Given the description of an element on the screen output the (x, y) to click on. 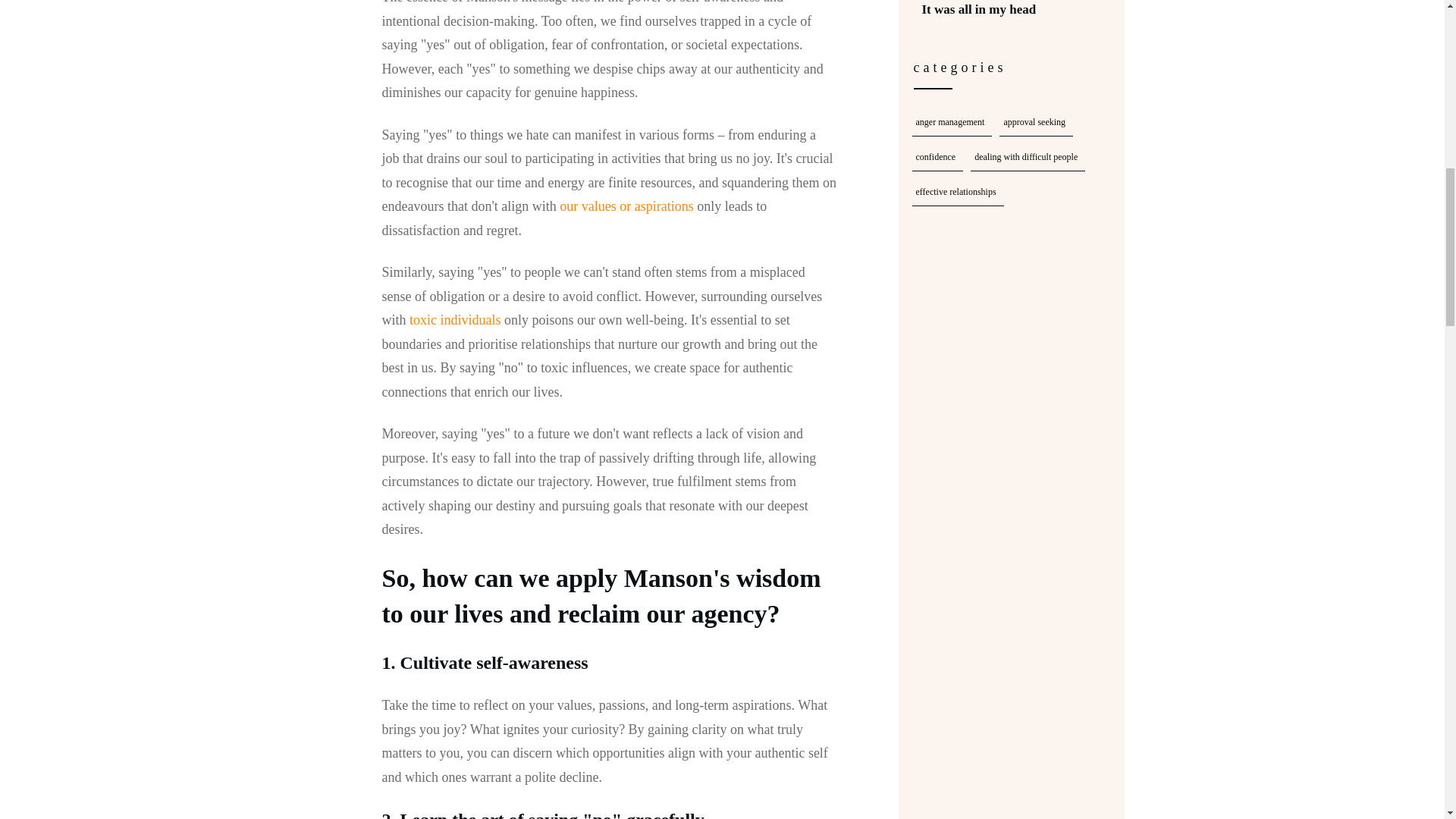
our values or aspirations (626, 206)
toxic individuals (454, 319)
It was all in my head (978, 9)
